Given the description of an element on the screen output the (x, y) to click on. 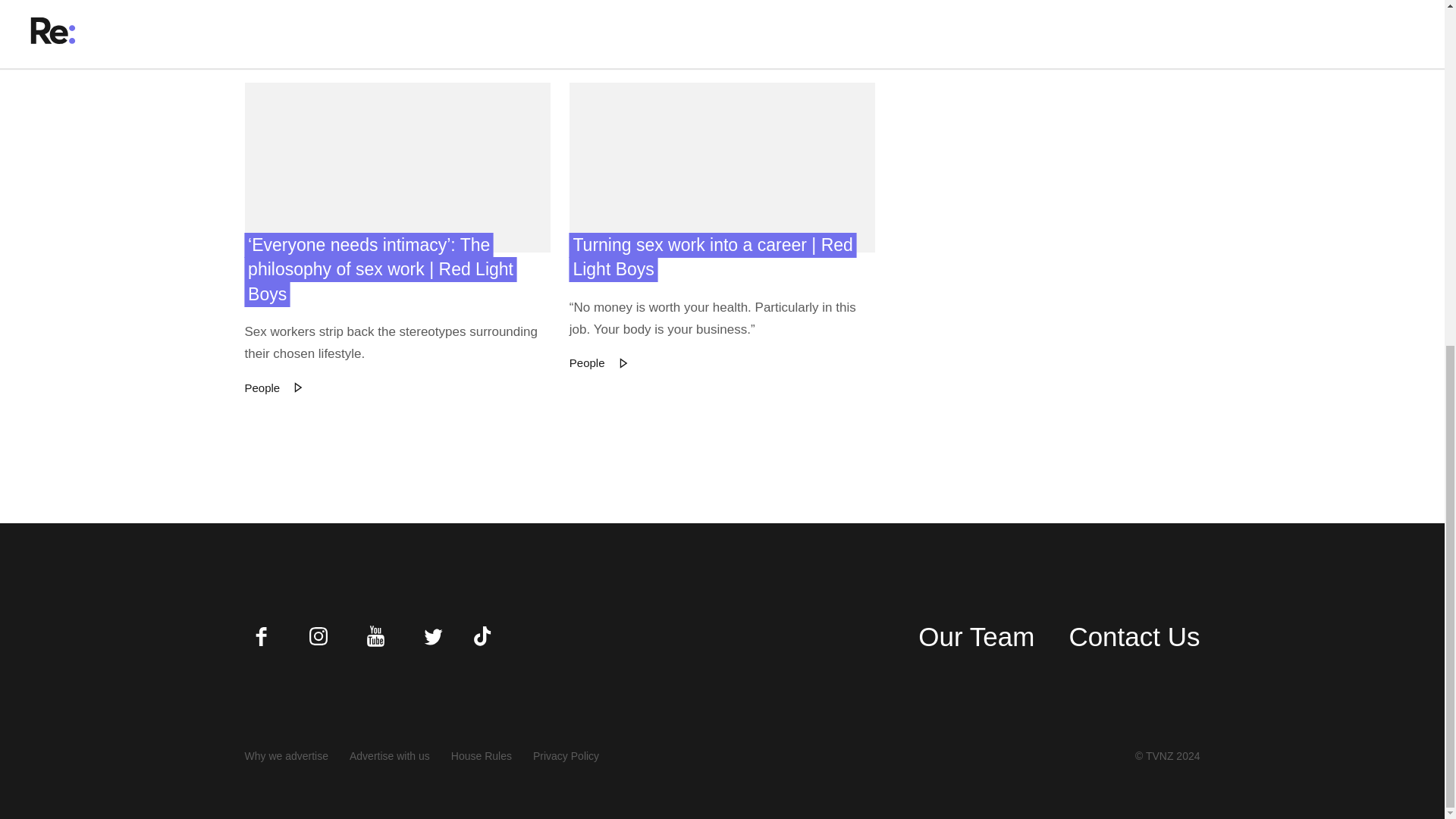
House Rules (481, 756)
People (261, 30)
Privacy Policy (565, 756)
Youtube (374, 636)
Our Team (975, 636)
People (911, 30)
People (587, 8)
People (587, 362)
Instagram (318, 636)
Twitter (431, 636)
